Given the description of an element on the screen output the (x, y) to click on. 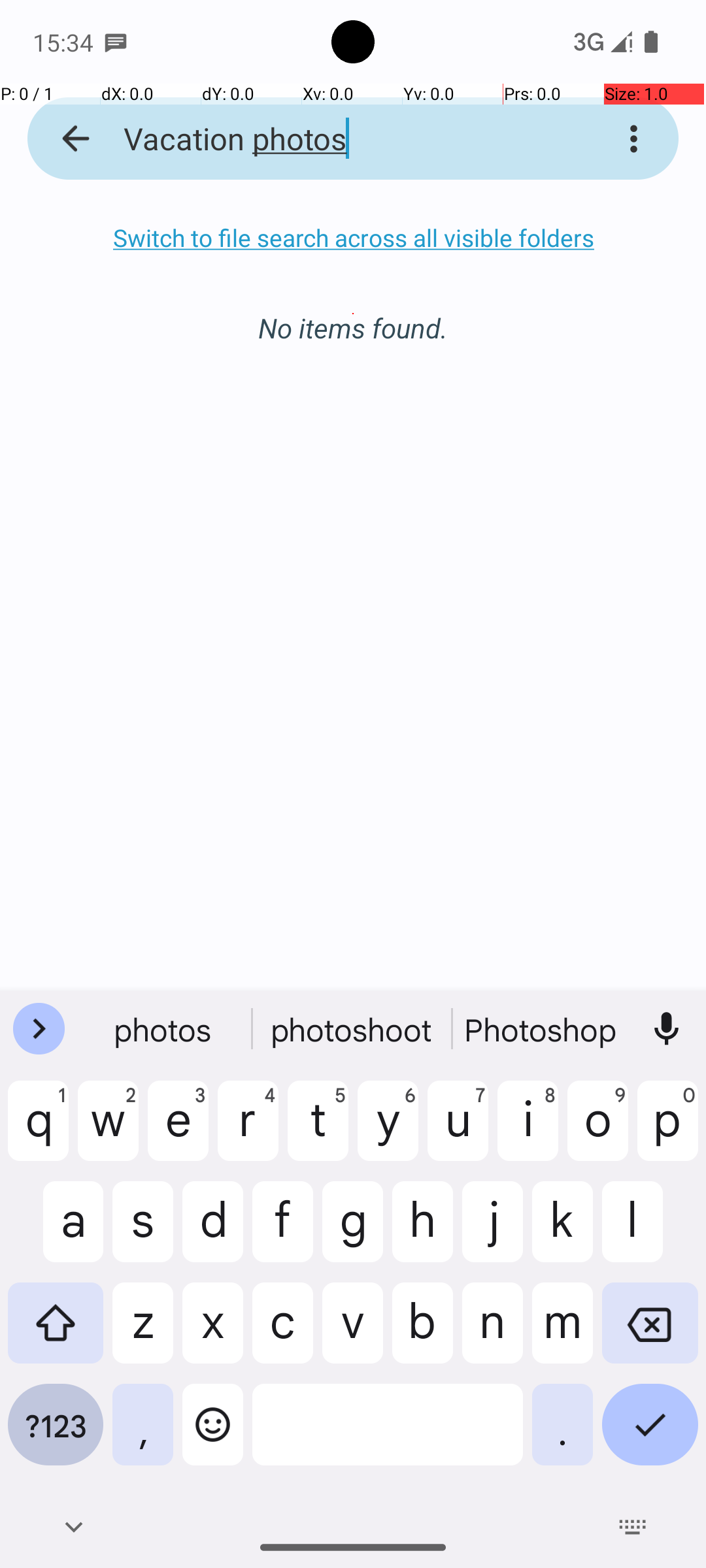
Switch to file search across all visible folders Element type: android.widget.TextView (353, 237)
No items found. Element type: android.widget.TextView (353, 313)
Vacation photos Element type: android.widget.EditText (335, 138)
photos Element type: android.widget.FrameLayout (163, 1028)
Vacations Element type: android.widget.FrameLayout (352, 1028)
Vacationing Element type: android.widget.FrameLayout (541, 1028)
